Given the description of an element on the screen output the (x, y) to click on. 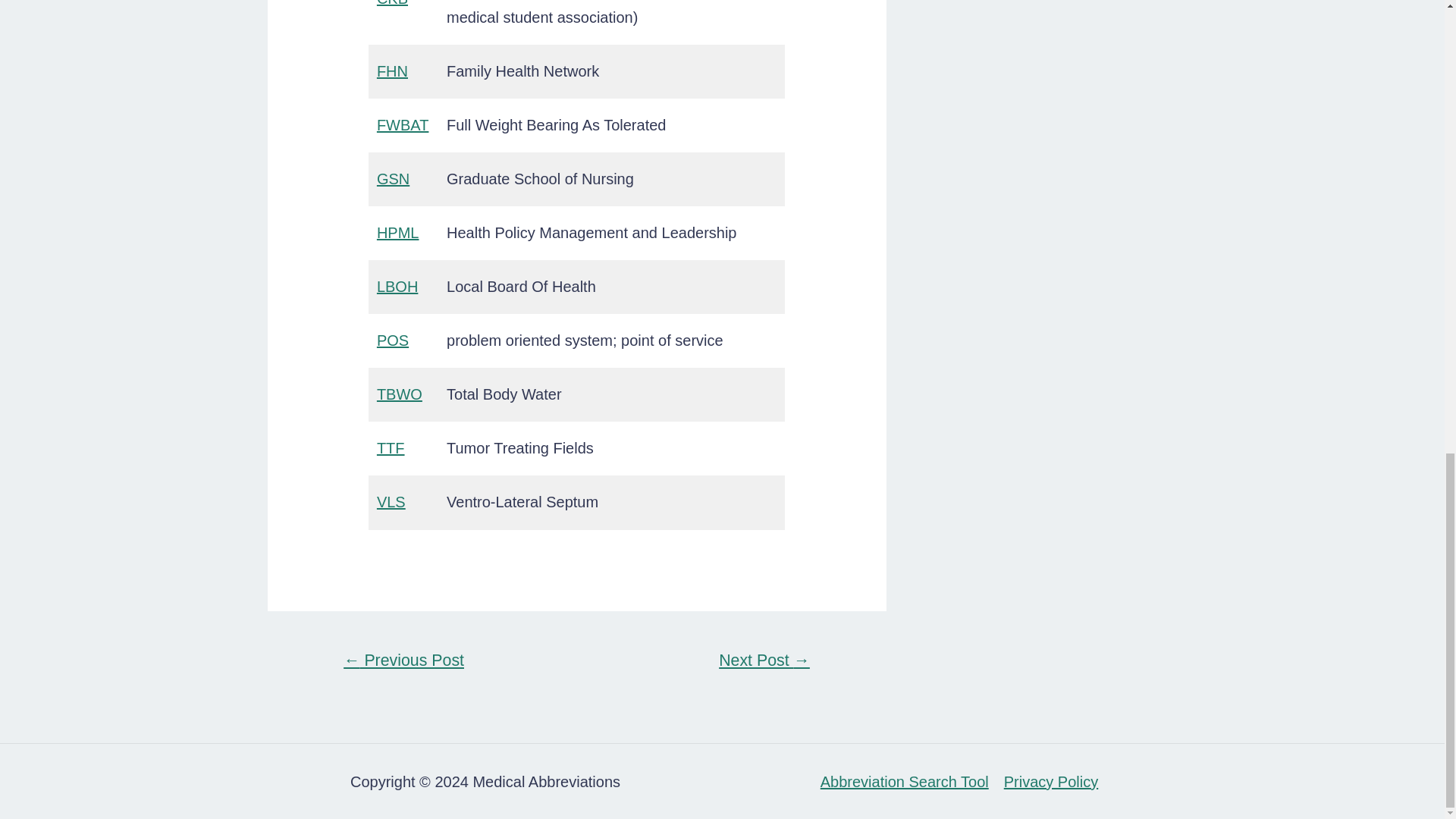
HPML (398, 232)
GSN (393, 178)
FWBAT (403, 125)
Privacy Policy (1046, 781)
LBOH (397, 286)
TBWO (399, 393)
VLS (391, 501)
Abbreviation Search Tool (908, 781)
FHN (392, 71)
TTF (390, 447)
